Given the description of an element on the screen output the (x, y) to click on. 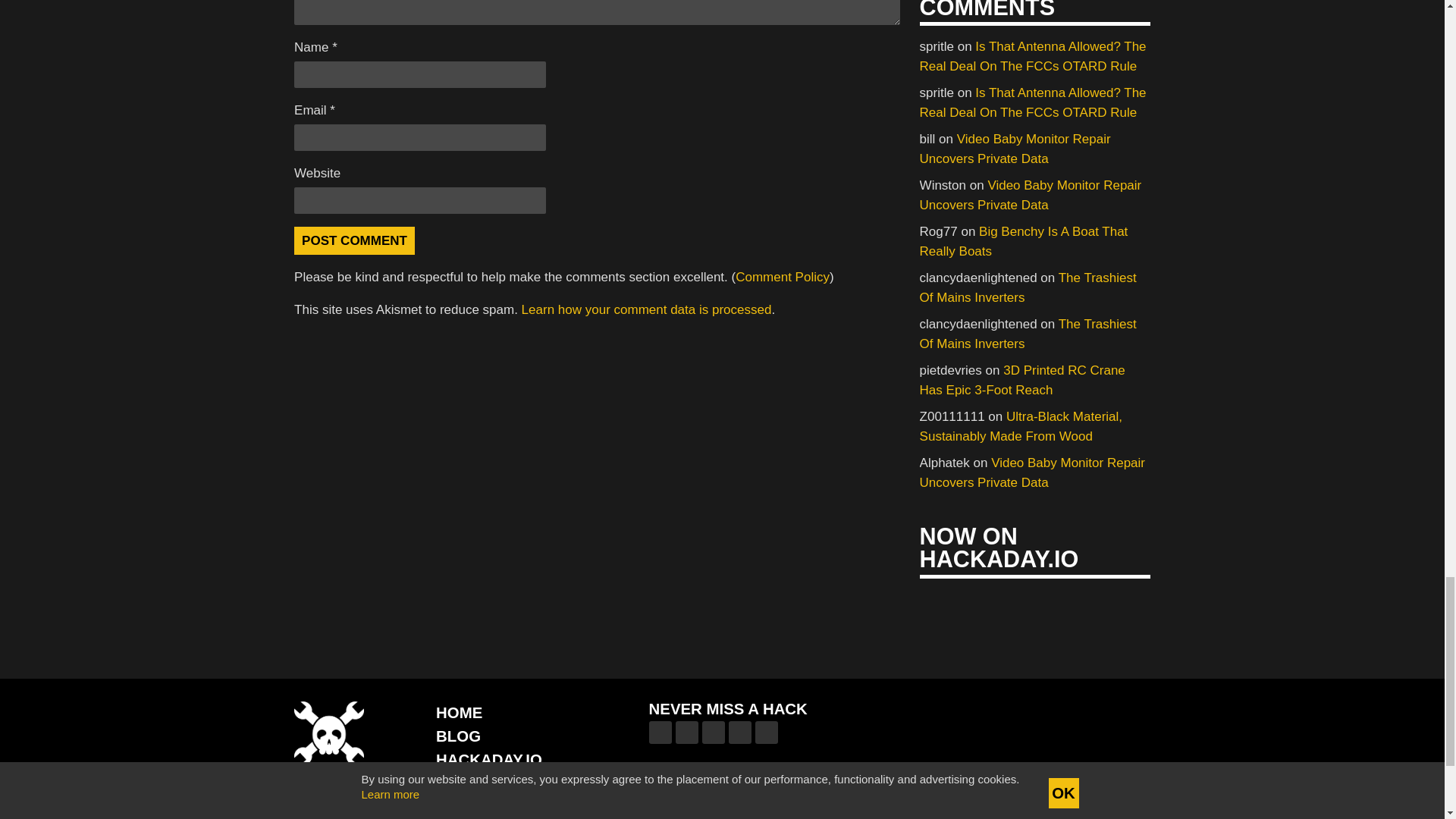
Build Something that Matters (503, 805)
Post Comment (354, 240)
Subscribe (874, 807)
